Given the description of an element on the screen output the (x, y) to click on. 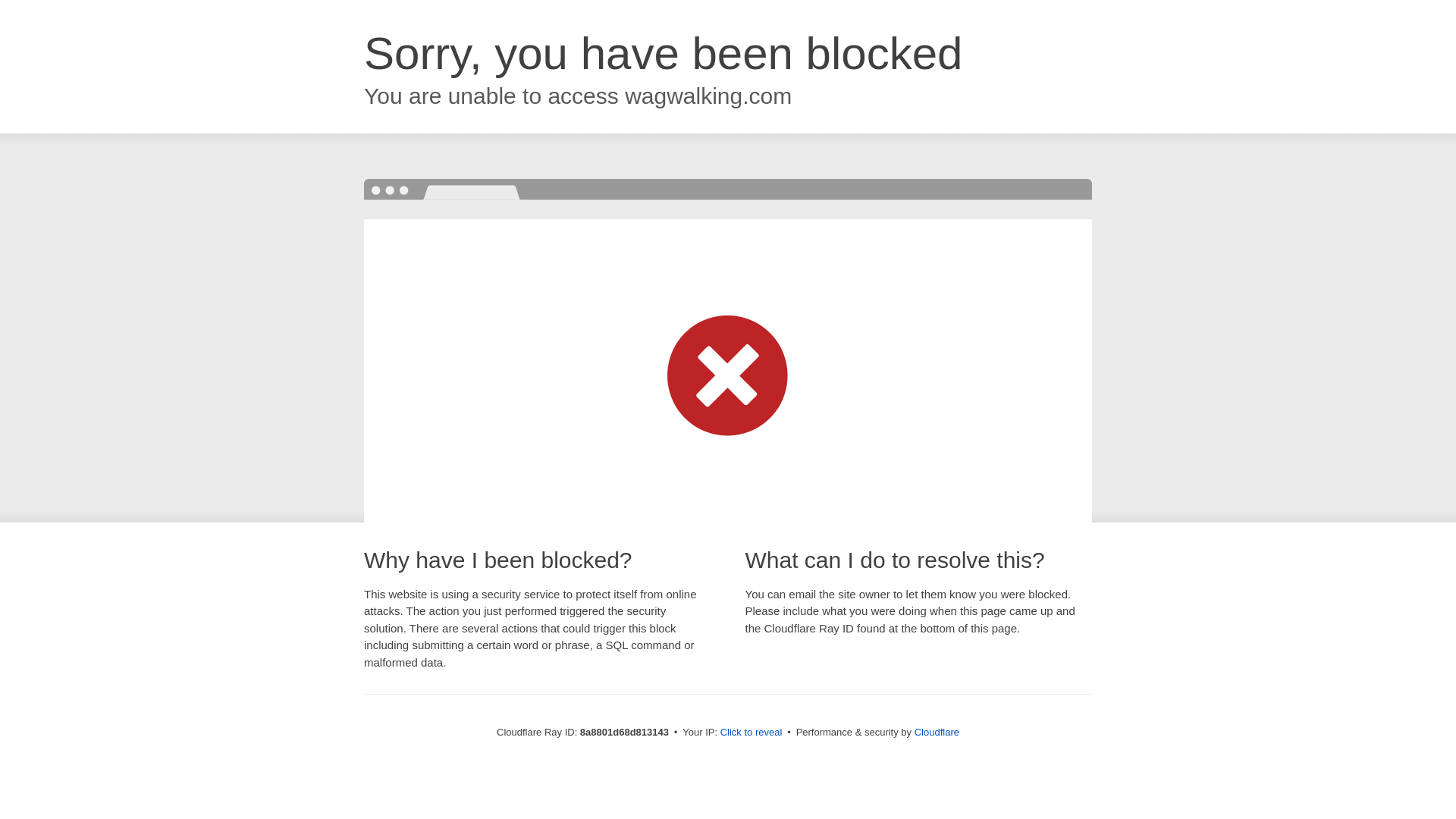
Click to reveal (751, 732)
Cloudflare (936, 731)
